Given the description of an element on the screen output the (x, y) to click on. 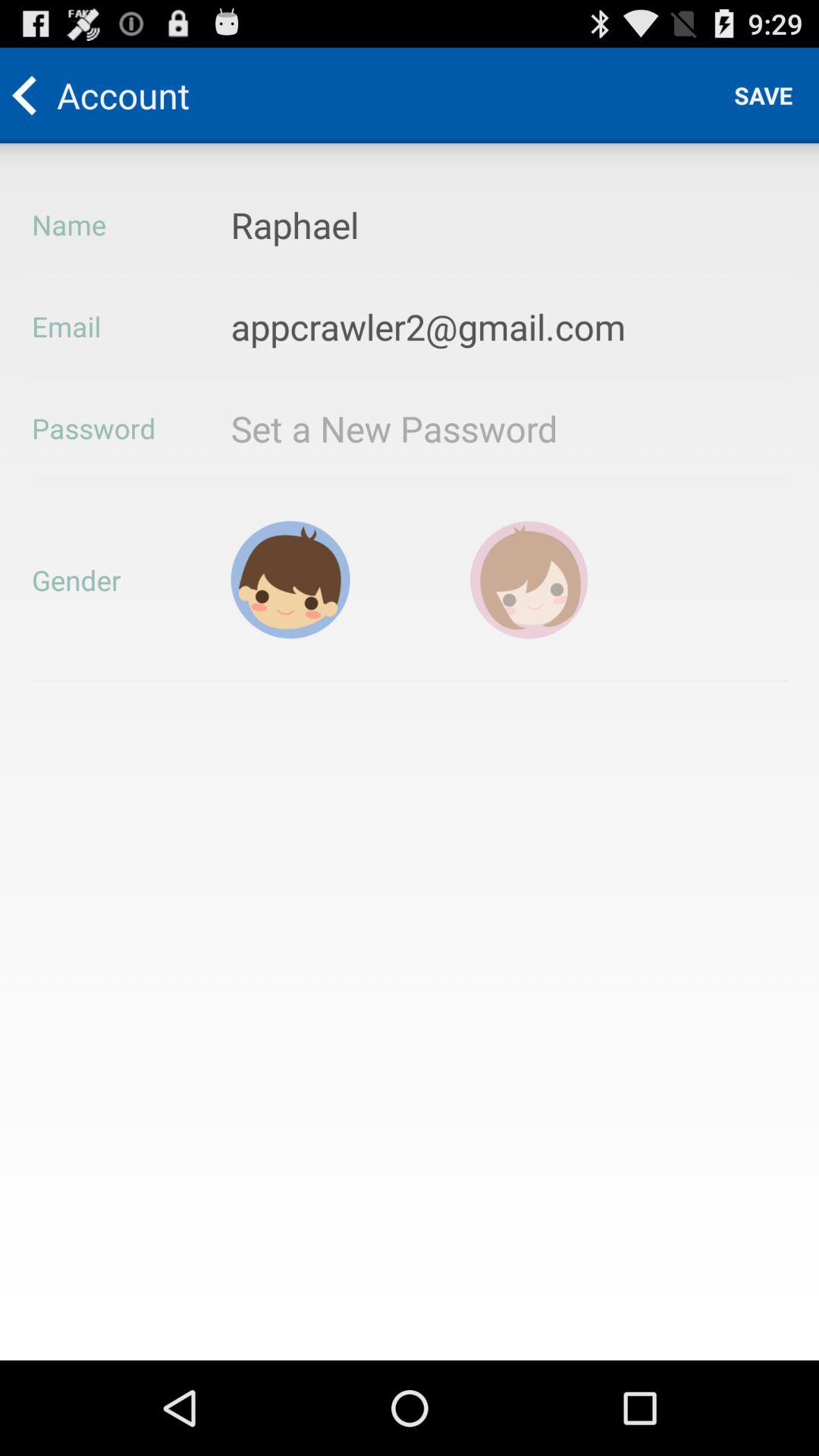
choose gender female (529, 579)
